Given the description of an element on the screen output the (x, y) to click on. 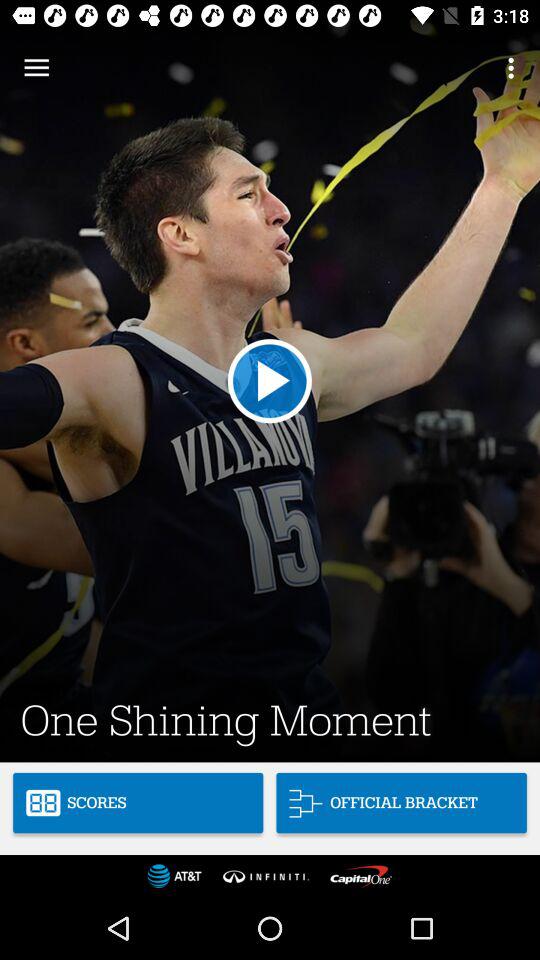
flip until the official bracket (401, 802)
